Given the description of an element on the screen output the (x, y) to click on. 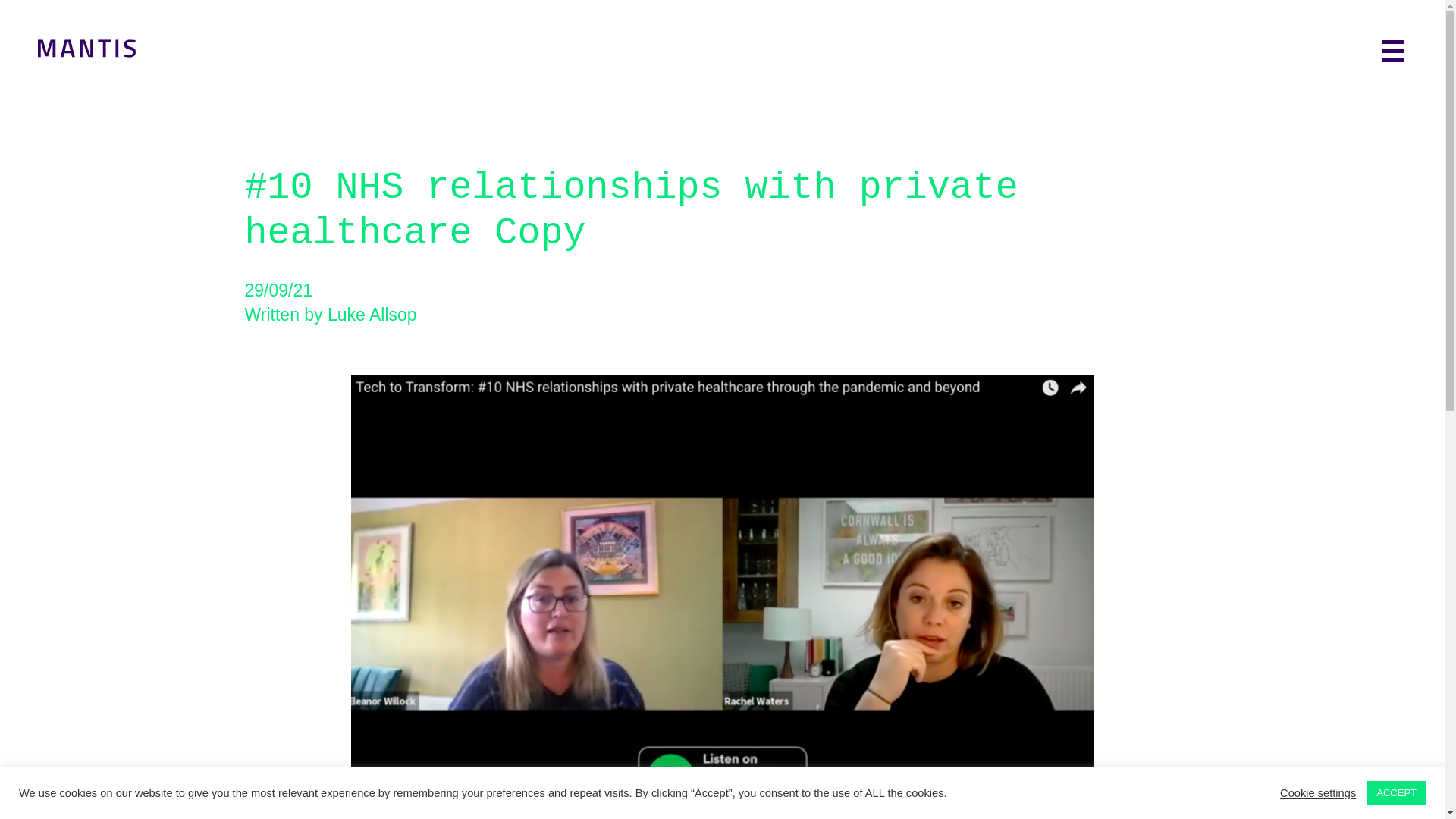
Cookie settings (1317, 792)
Mantis PR (86, 51)
ACCEPT (1396, 792)
Menu (1393, 51)
